Given the description of an element on the screen output the (x, y) to click on. 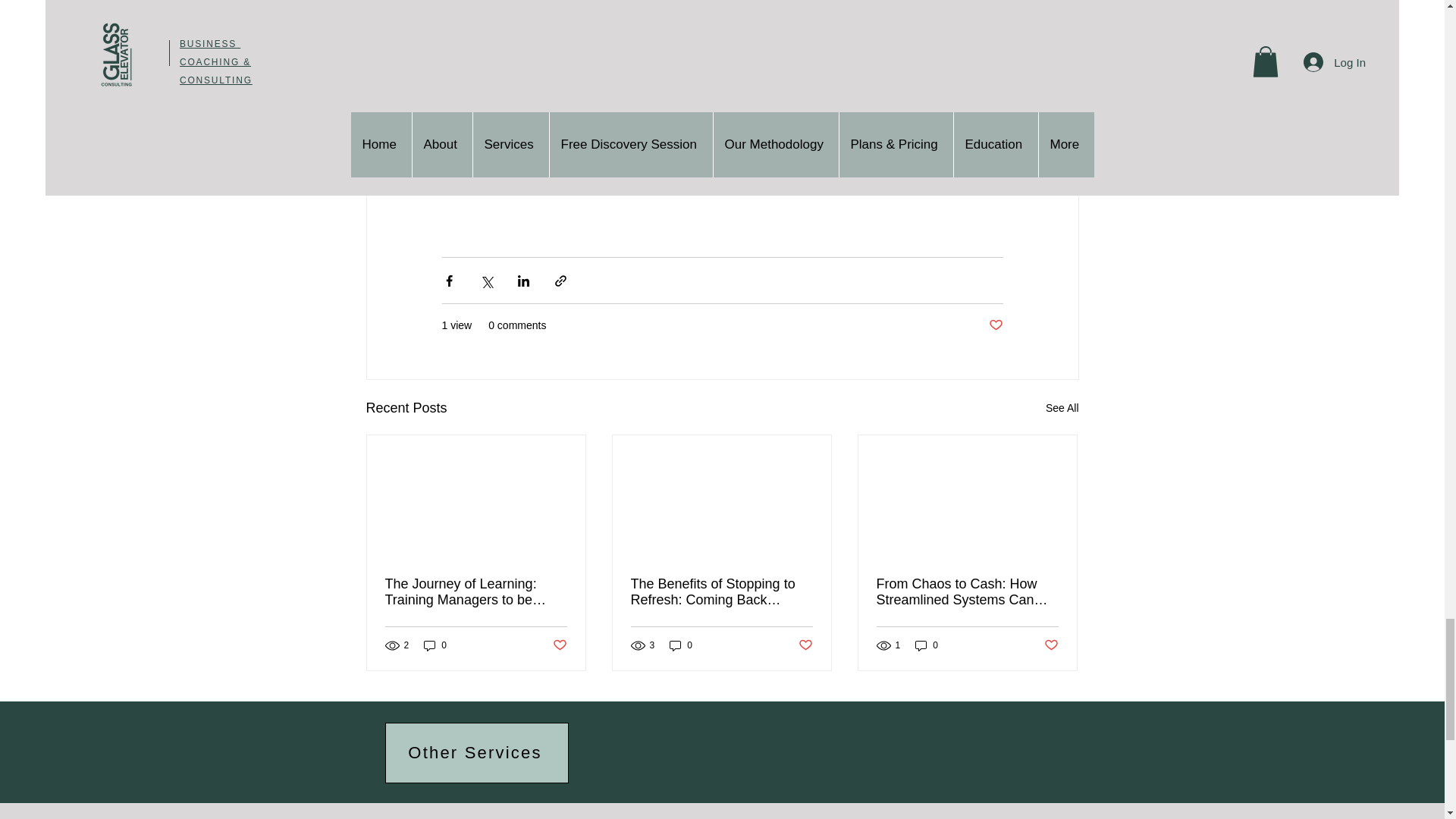
Post not marked as liked (995, 325)
0 (681, 645)
0 (435, 645)
Post not marked as liked (804, 645)
See All (1061, 408)
Post not marked as liked (558, 645)
